Given the description of an element on the screen output the (x, y) to click on. 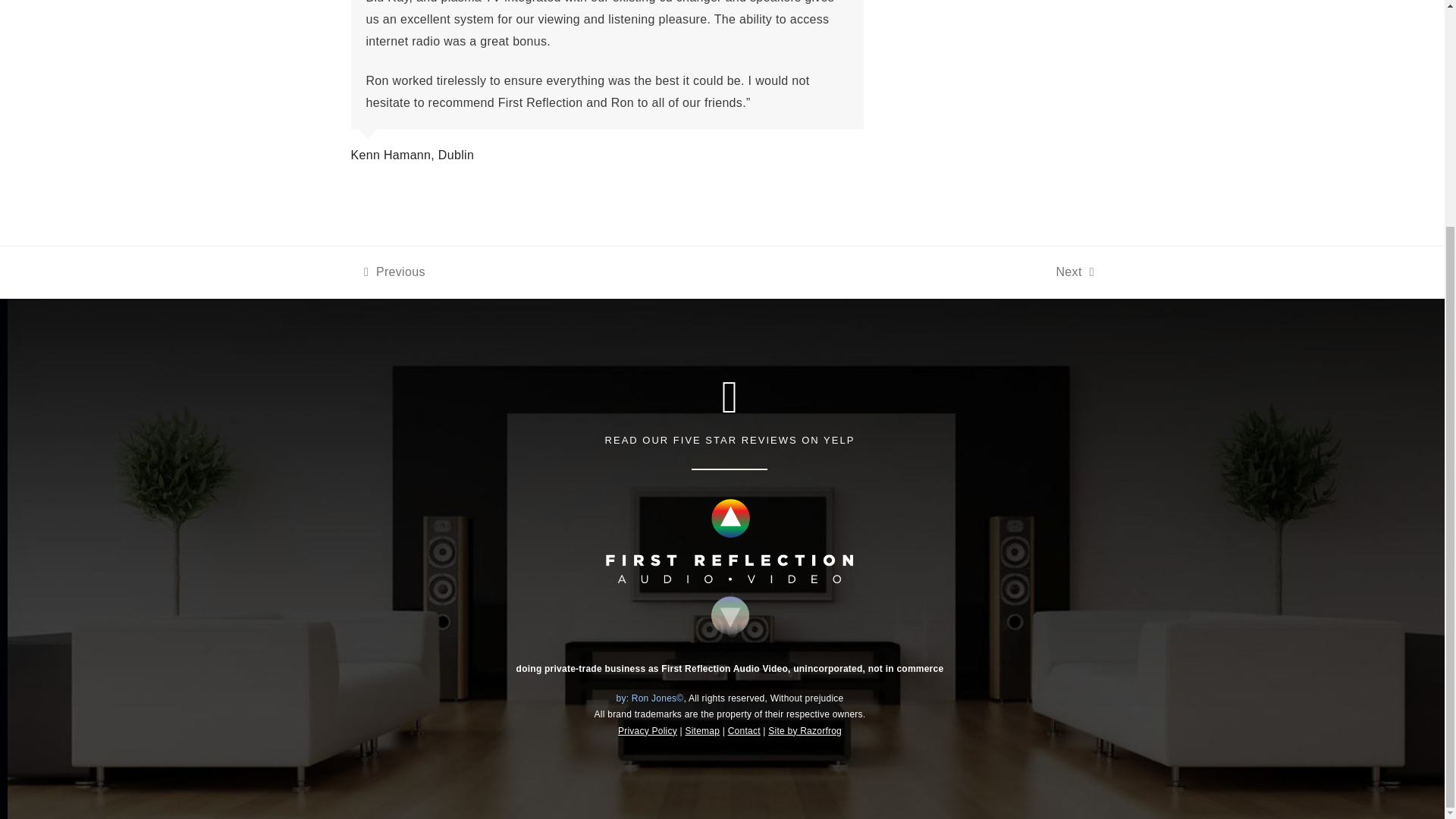
Privacy Policy (647, 730)
Contact (1074, 272)
Sitemap (744, 730)
Site by Razorfrog (394, 272)
READ OUR FIVE STAR REVIEWS ON YELP (701, 730)
First Reflection Audio Video Logo Color Reversed (804, 730)
